Given the description of an element on the screen output the (x, y) to click on. 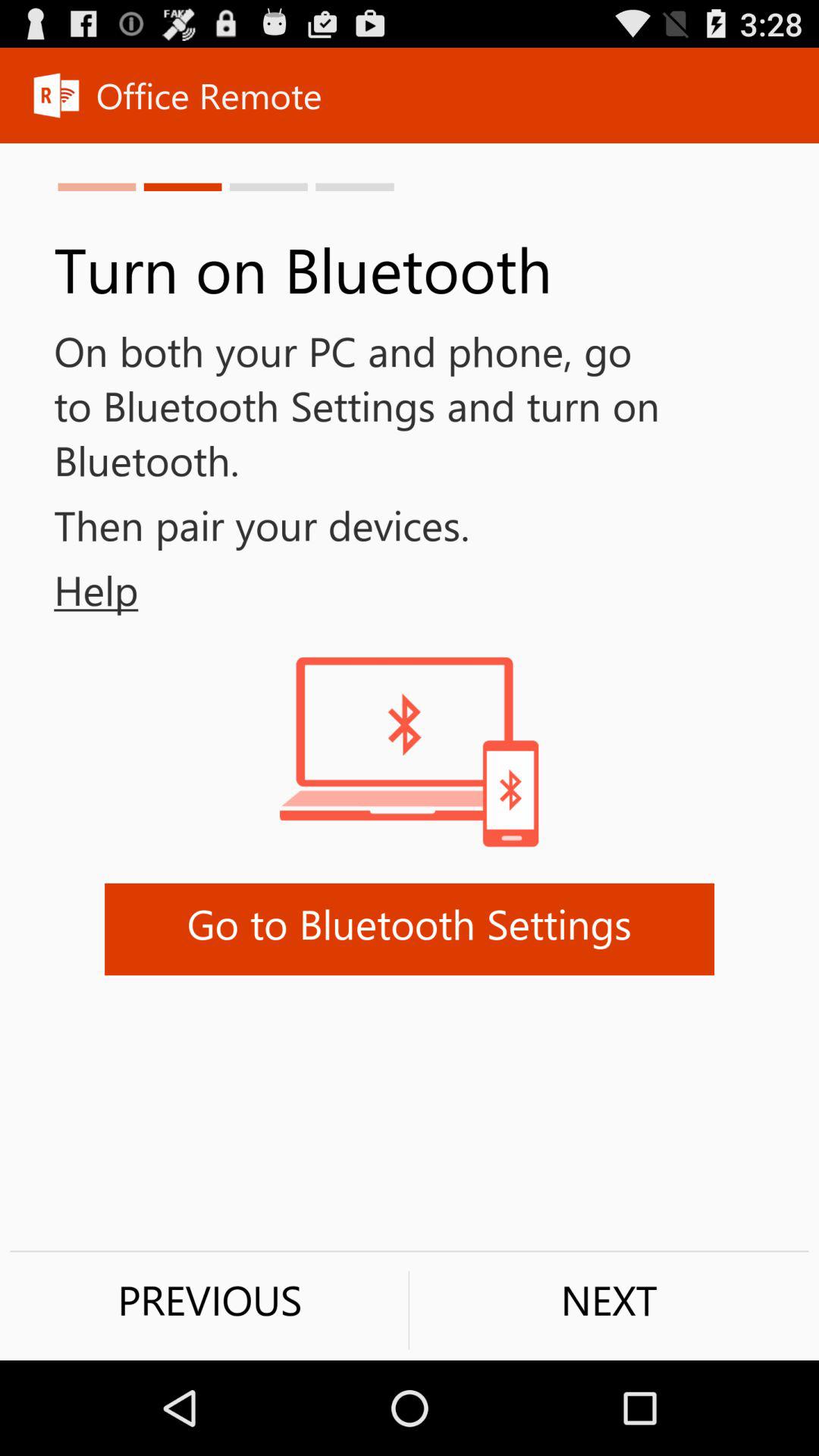
open app below the then pair your app (69, 589)
